Given the description of an element on the screen output the (x, y) to click on. 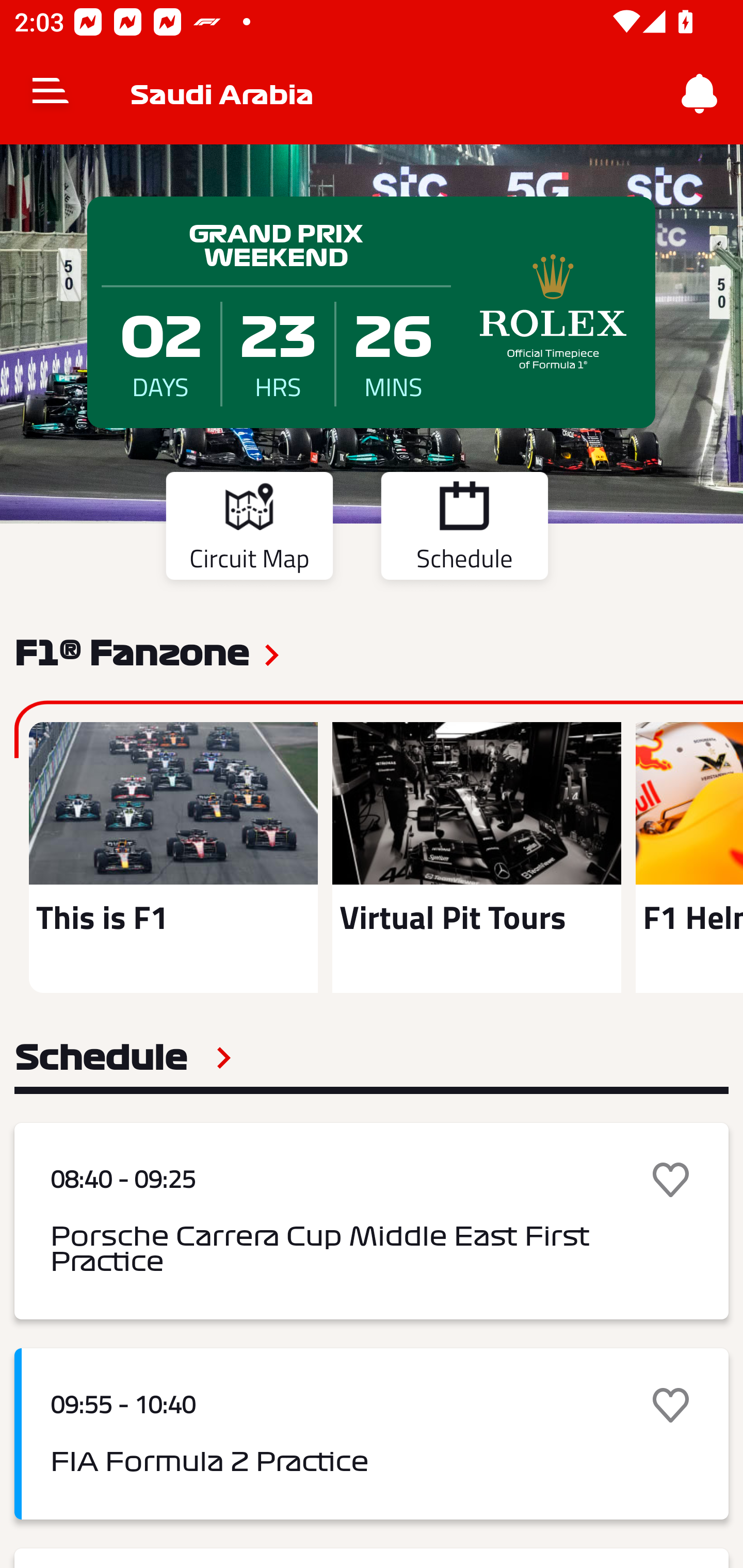
Navigate up (50, 93)
Notifications (699, 93)
Circuit Map (249, 528)
Schedule (464, 528)
F1® Fanzone (131, 651)
This is F1 (173, 857)
Virtual Pit Tours (476, 857)
Schedule (122, 1057)
09:55 - 10:40 FIA Formula 2 Practice (371, 1433)
